Given the description of an element on the screen output the (x, y) to click on. 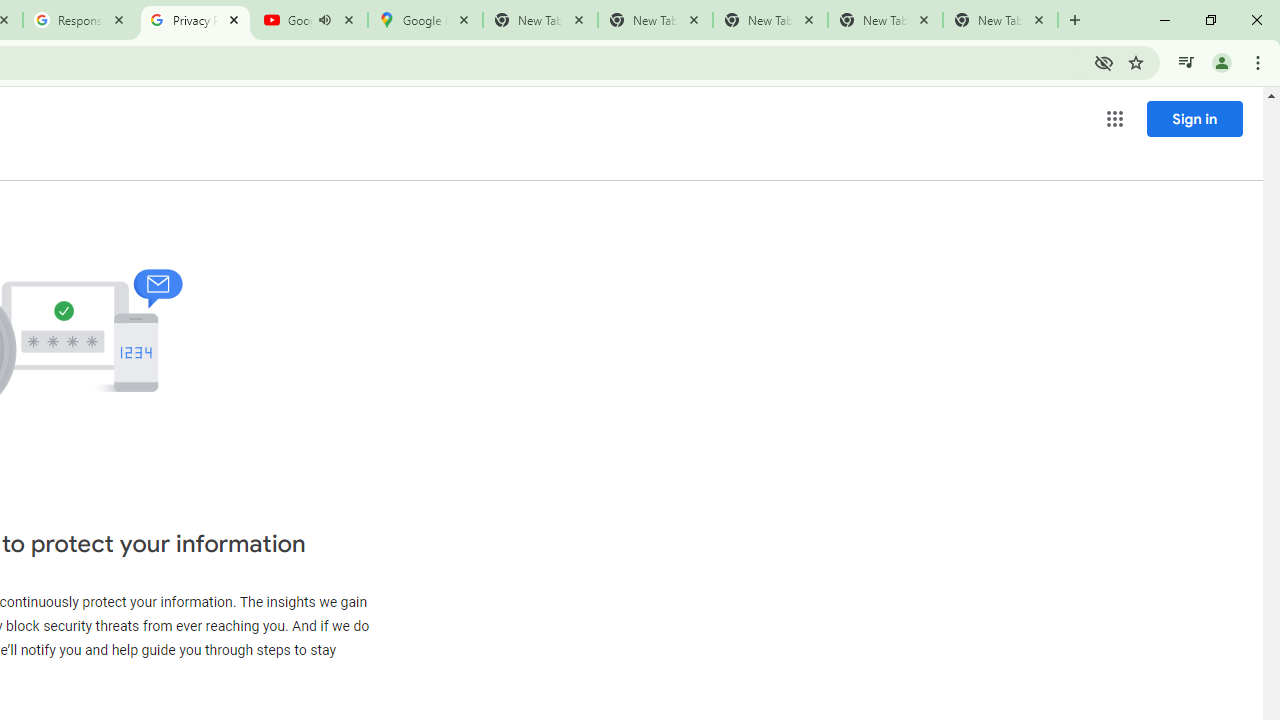
Mute tab (324, 20)
Third-party cookies blocked (1103, 62)
Control your music, videos, and more (1185, 62)
Google Maps (424, 20)
